Given the description of an element on the screen output the (x, y) to click on. 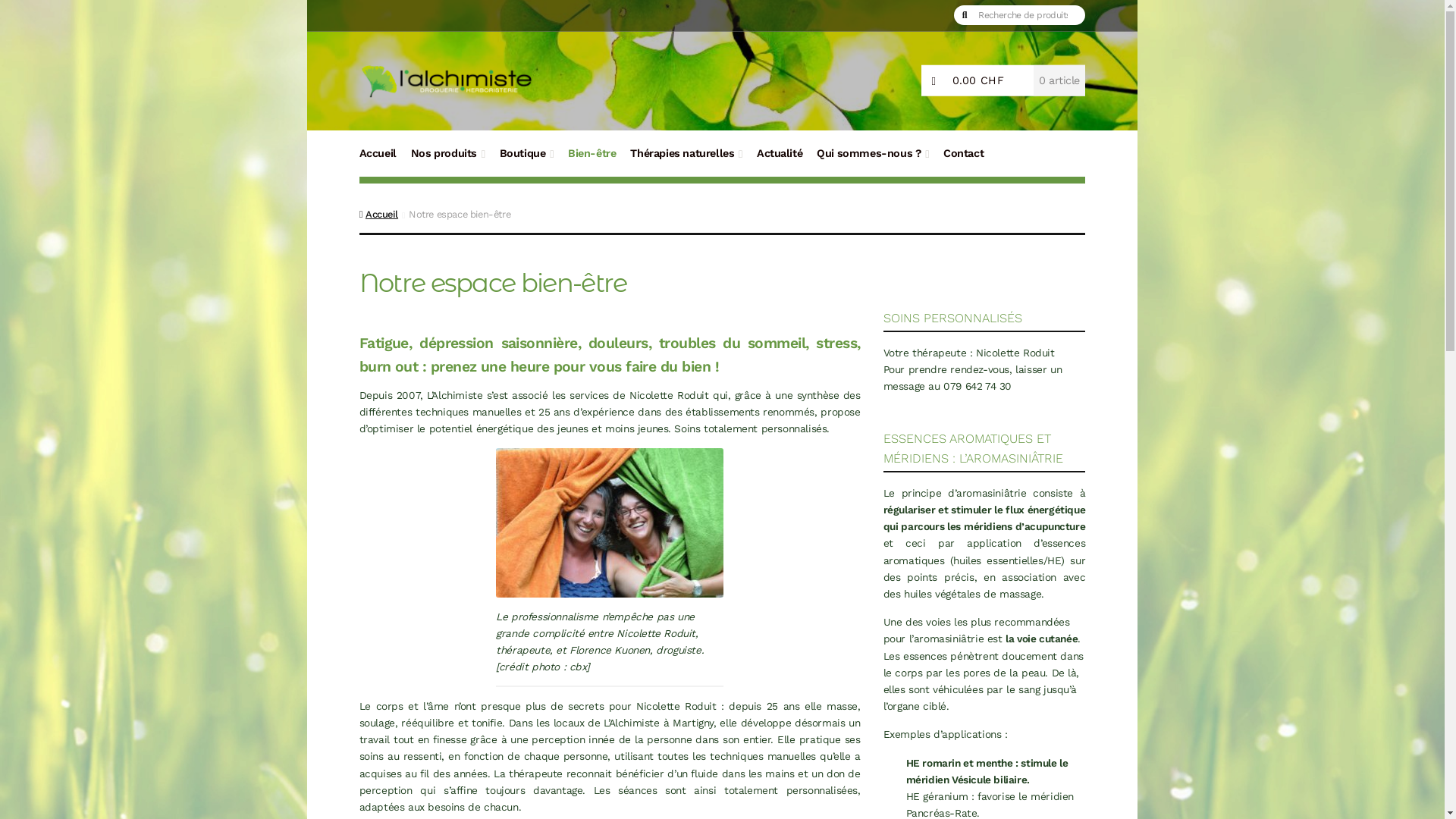
0.00 CHF
0 article Element type: text (1003, 80)
Contact Element type: text (963, 160)
Nos produits Element type: text (447, 160)
Accueil Element type: text (378, 213)
Accueil Element type: text (378, 160)
Boutique Element type: text (525, 160)
Qui sommes-nous ? Element type: text (872, 160)
